Given the description of an element on the screen output the (x, y) to click on. 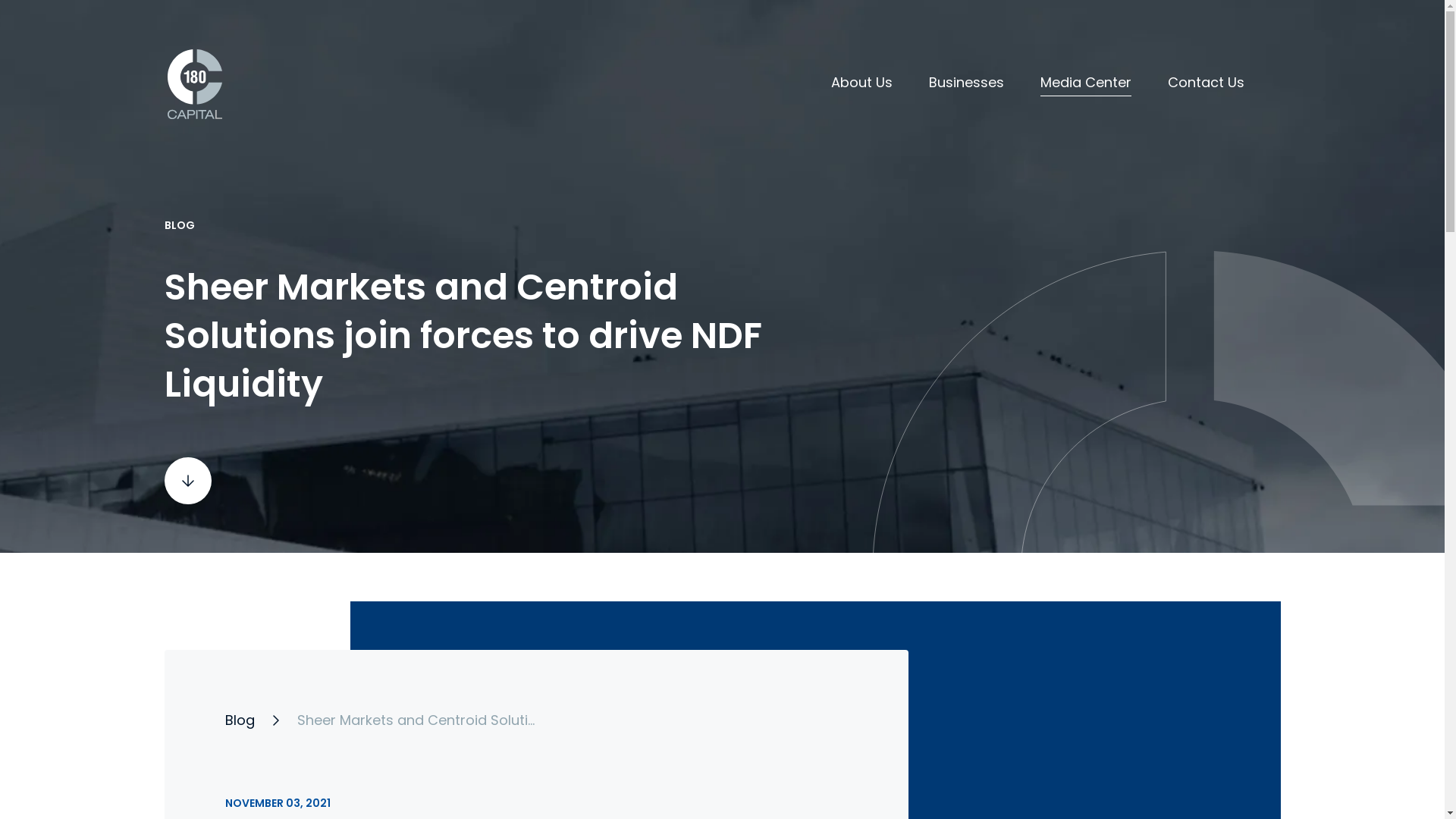
Media Center Element type: text (1085, 84)
Blog Element type: text (239, 720)
Contact Us Element type: text (1205, 84)
About Us Element type: text (861, 84)
Businesses Element type: text (965, 84)
